Given the description of an element on the screen output the (x, y) to click on. 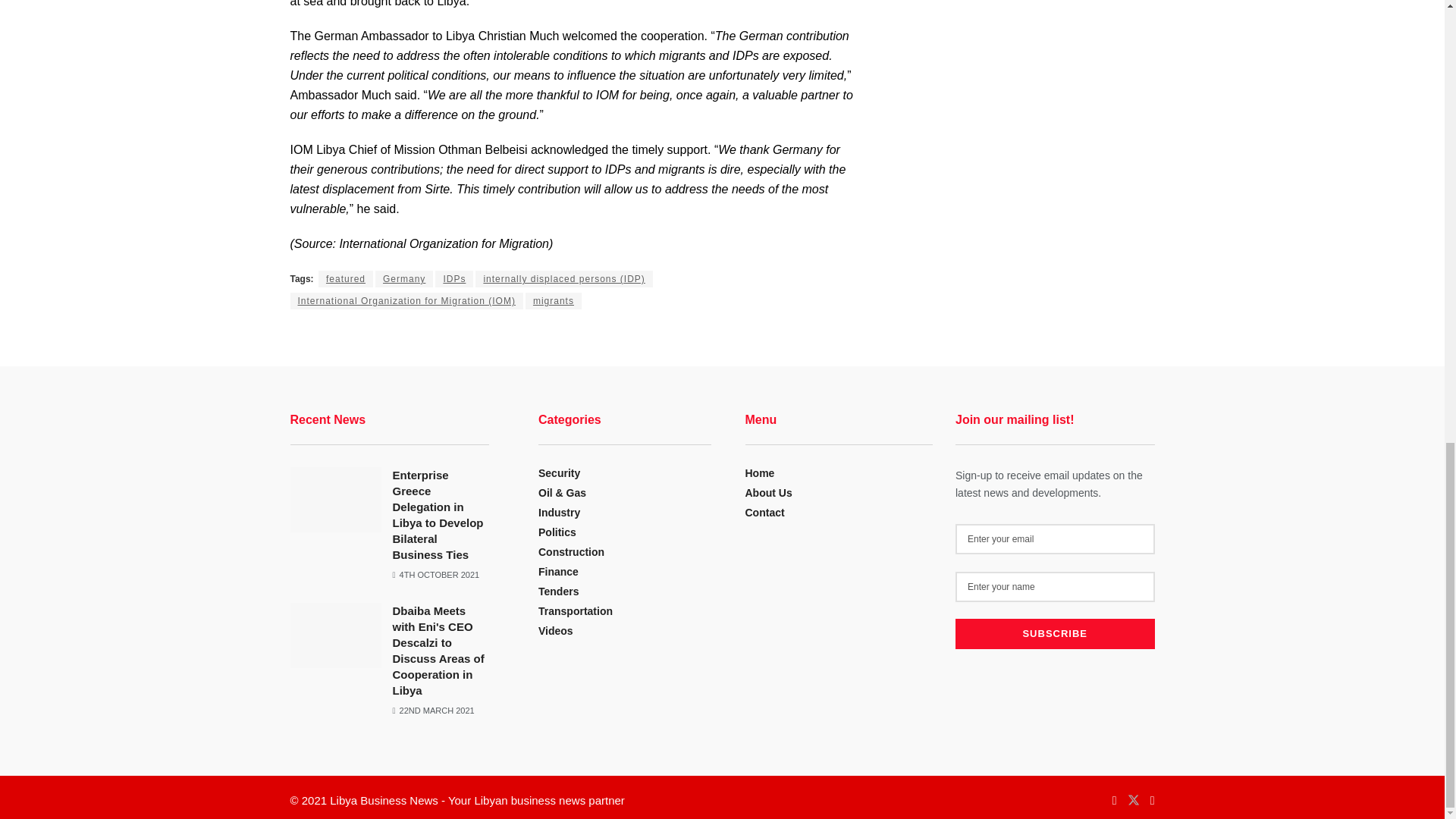
Germany (403, 279)
IDPs (454, 279)
Libya Business News (384, 799)
Enter your name (1054, 586)
Enter your email (1054, 539)
Subscribe (1054, 634)
featured (345, 279)
